Given the description of an element on the screen output the (x, y) to click on. 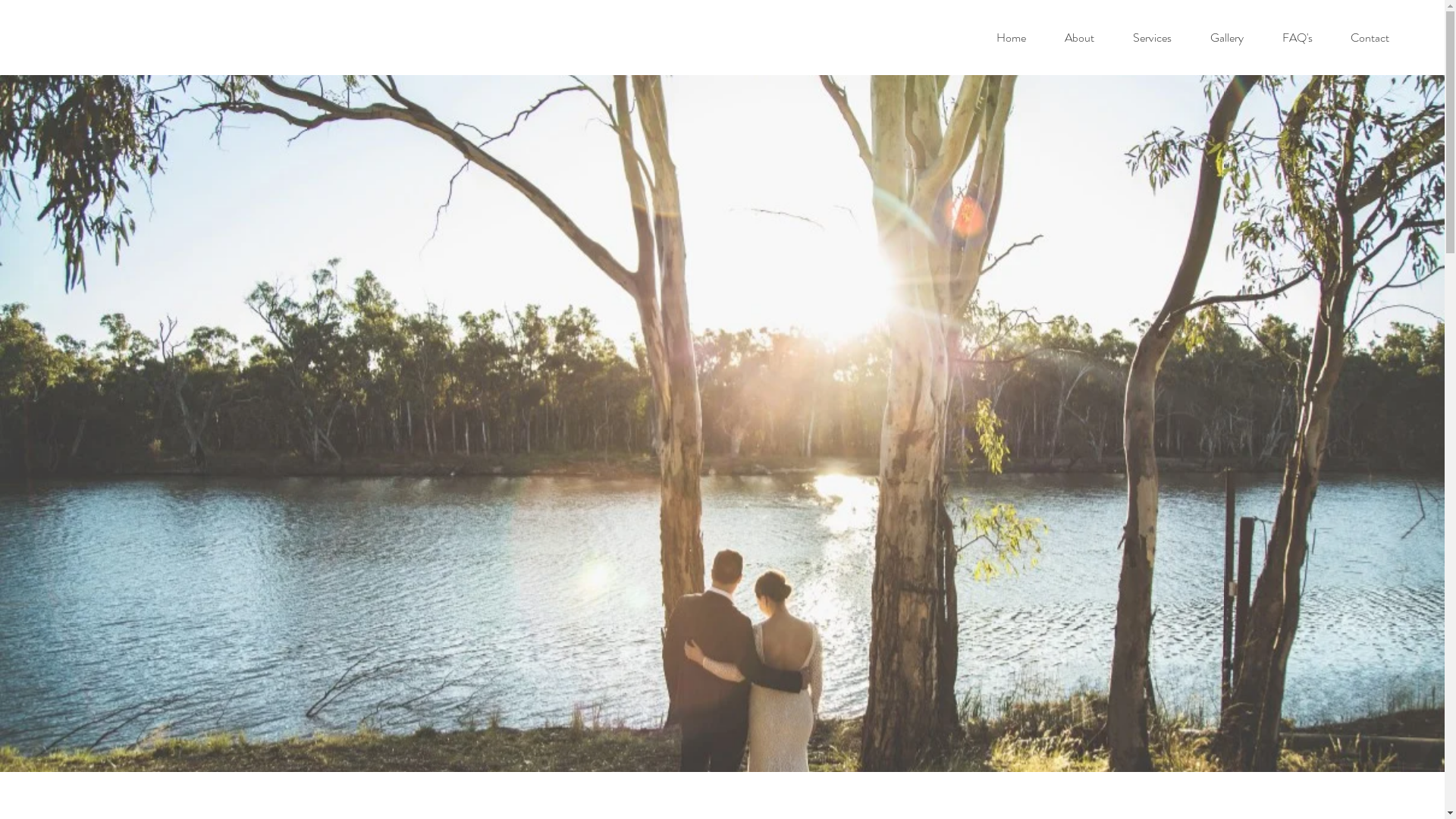
Home Element type: text (1010, 37)
Services Element type: text (1151, 37)
FAQ's Element type: text (1296, 37)
Gallery Element type: text (1226, 37)
About Element type: text (1078, 37)
Contact Element type: text (1369, 37)
